Given the description of an element on the screen output the (x, y) to click on. 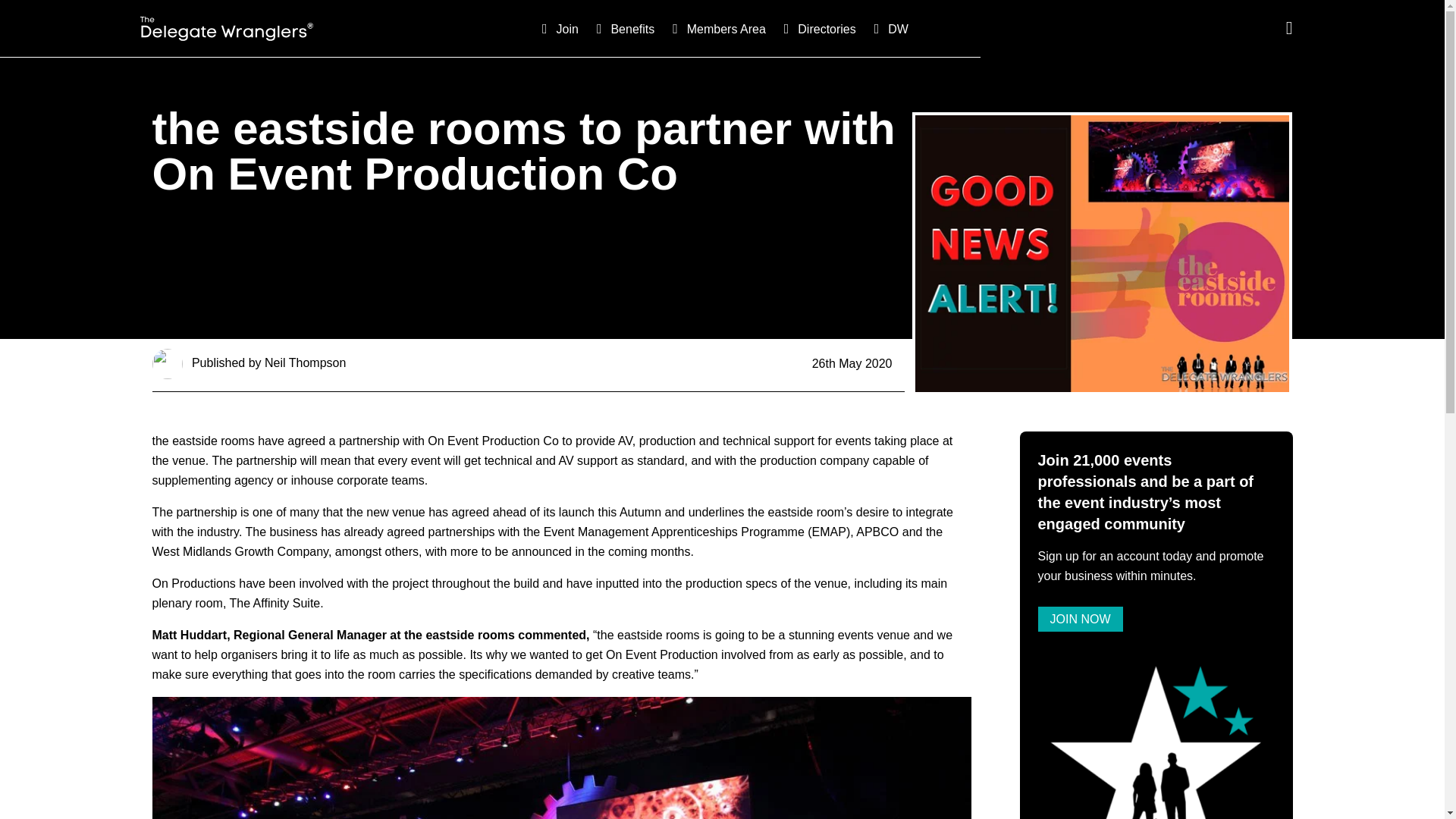
Join (556, 28)
Directories (816, 28)
DW (887, 28)
Benefits (622, 28)
Members Area (715, 28)
